Given the description of an element on the screen output the (x, y) to click on. 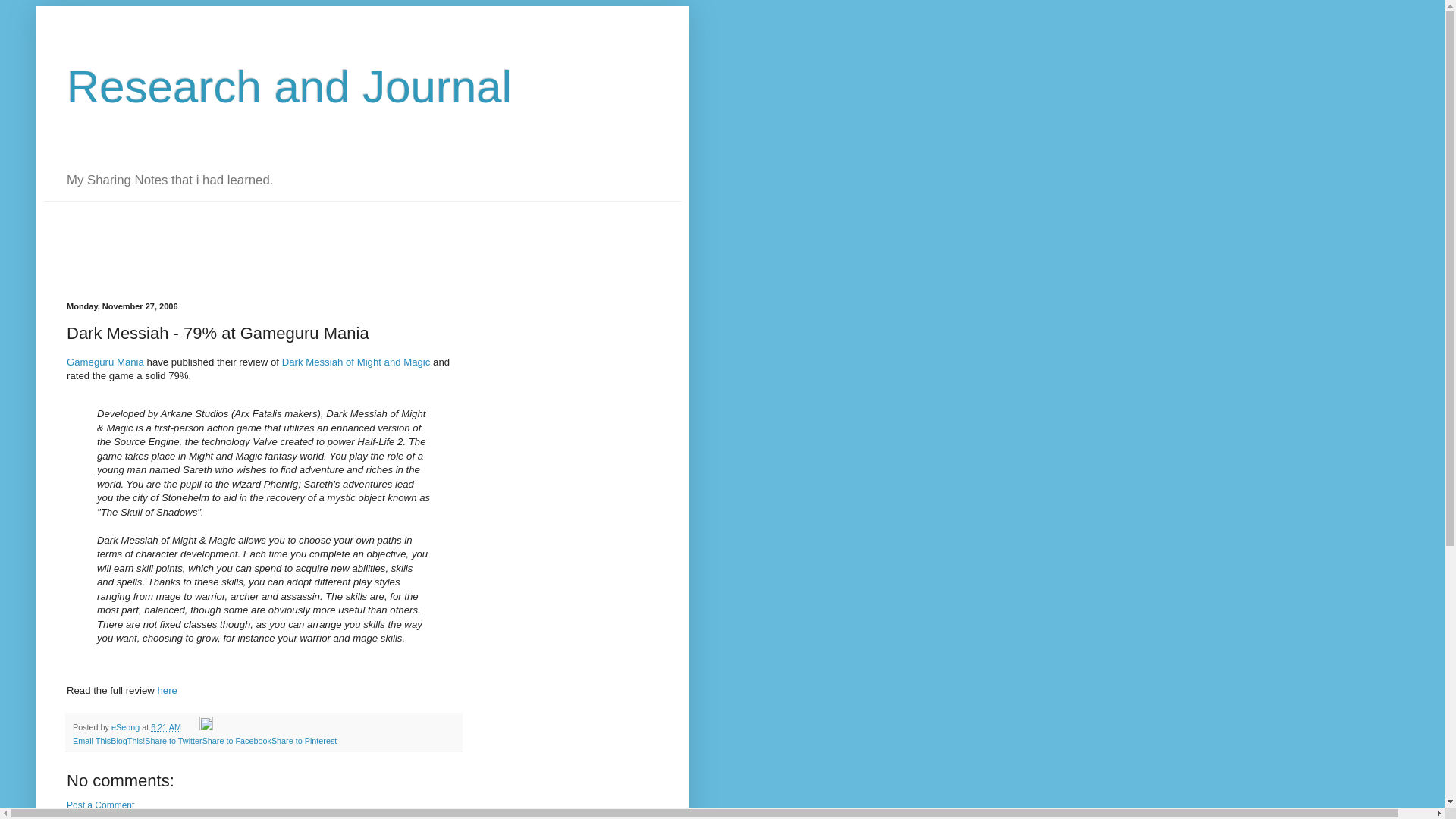
here (166, 690)
6:21 AM (165, 727)
Gameguru Mania (105, 361)
Email Post (191, 727)
permanent link (165, 727)
Email This (91, 740)
Share to Twitter (173, 740)
Share to Facebook (236, 740)
Dark Messiah of Might and Magic (356, 361)
Share to Twitter (173, 740)
Advertisement (319, 235)
author profile (126, 727)
Share to Pinterest (303, 740)
Share to Facebook (236, 740)
Edit Post (205, 727)
